Given the description of an element on the screen output the (x, y) to click on. 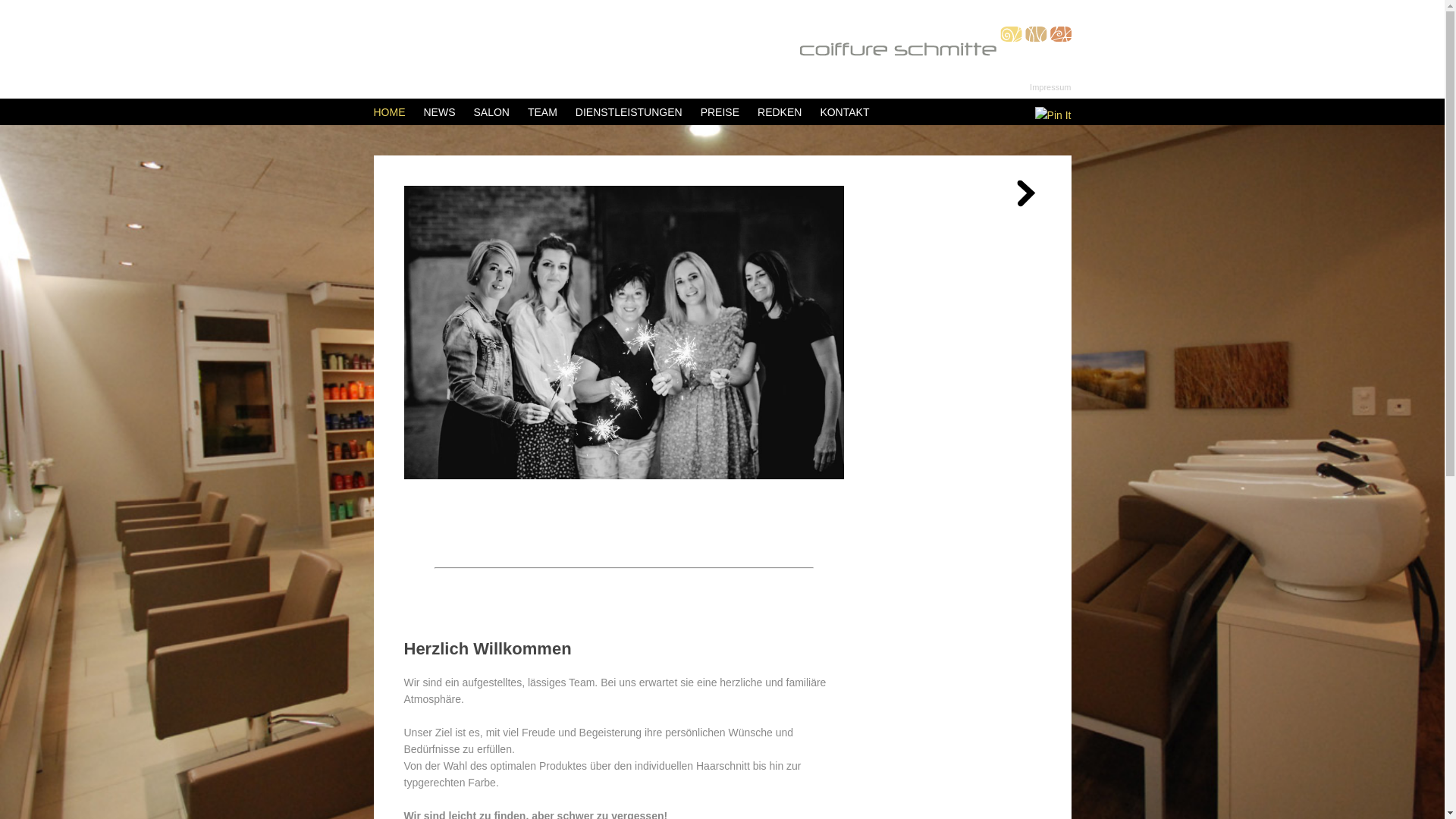
DIENSTLEISTUNGEN Element type: text (628, 112)
NEWS Element type: text (439, 112)
Impressum Element type: text (1049, 86)
Coiffure Schmitte Lengnau Element type: hover (934, 41)
REDKEN Element type: text (779, 112)
SALON Element type: text (490, 112)
HOME Element type: text (389, 112)
PREISE Element type: text (719, 112)
TEAM Element type: text (542, 112)
Pin It Element type: hover (1053, 114)
KONTAKT Element type: text (844, 112)
